Given the description of an element on the screen output the (x, y) to click on. 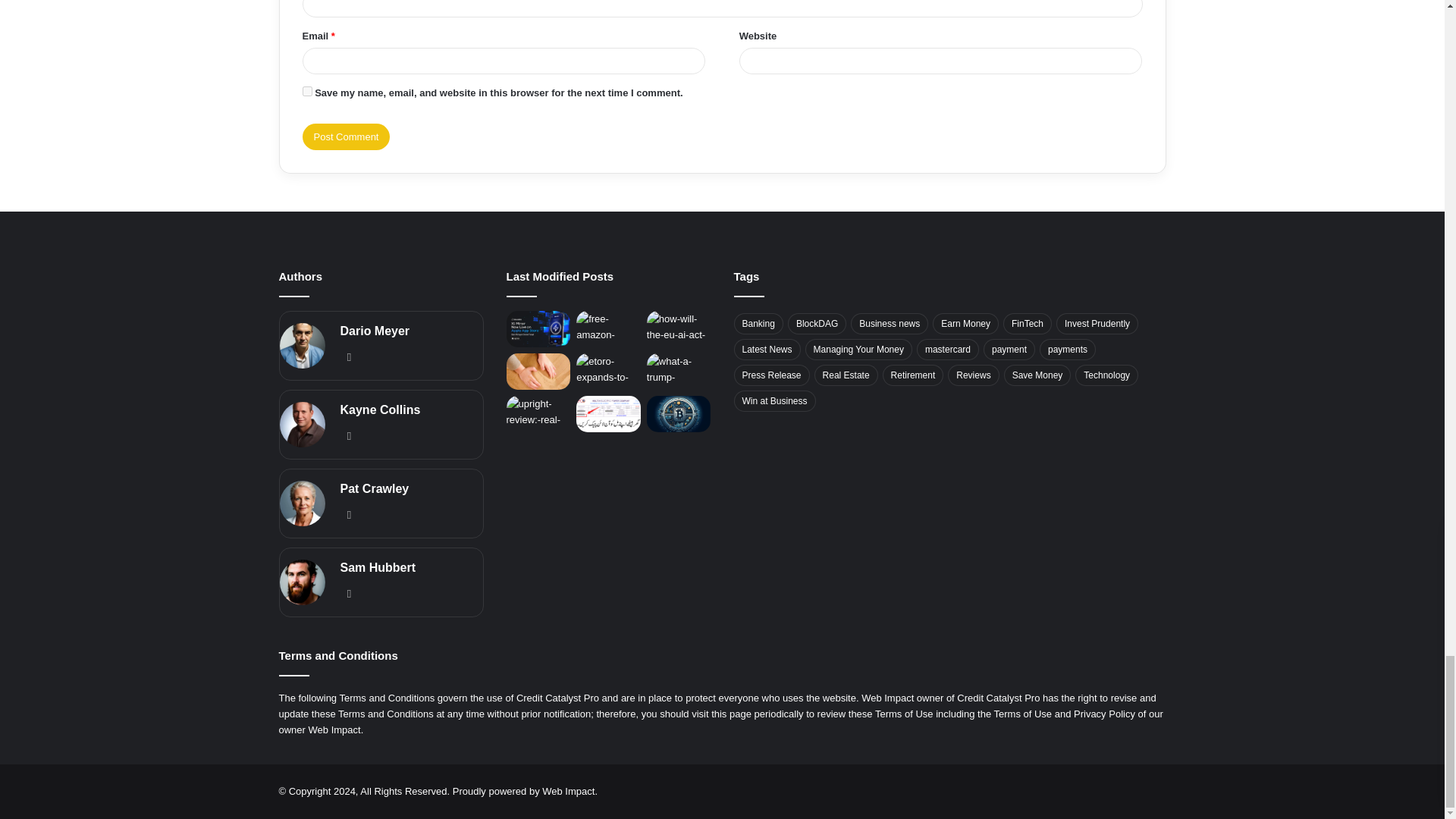
yes (306, 91)
Post Comment (345, 136)
